Given the description of an element on the screen output the (x, y) to click on. 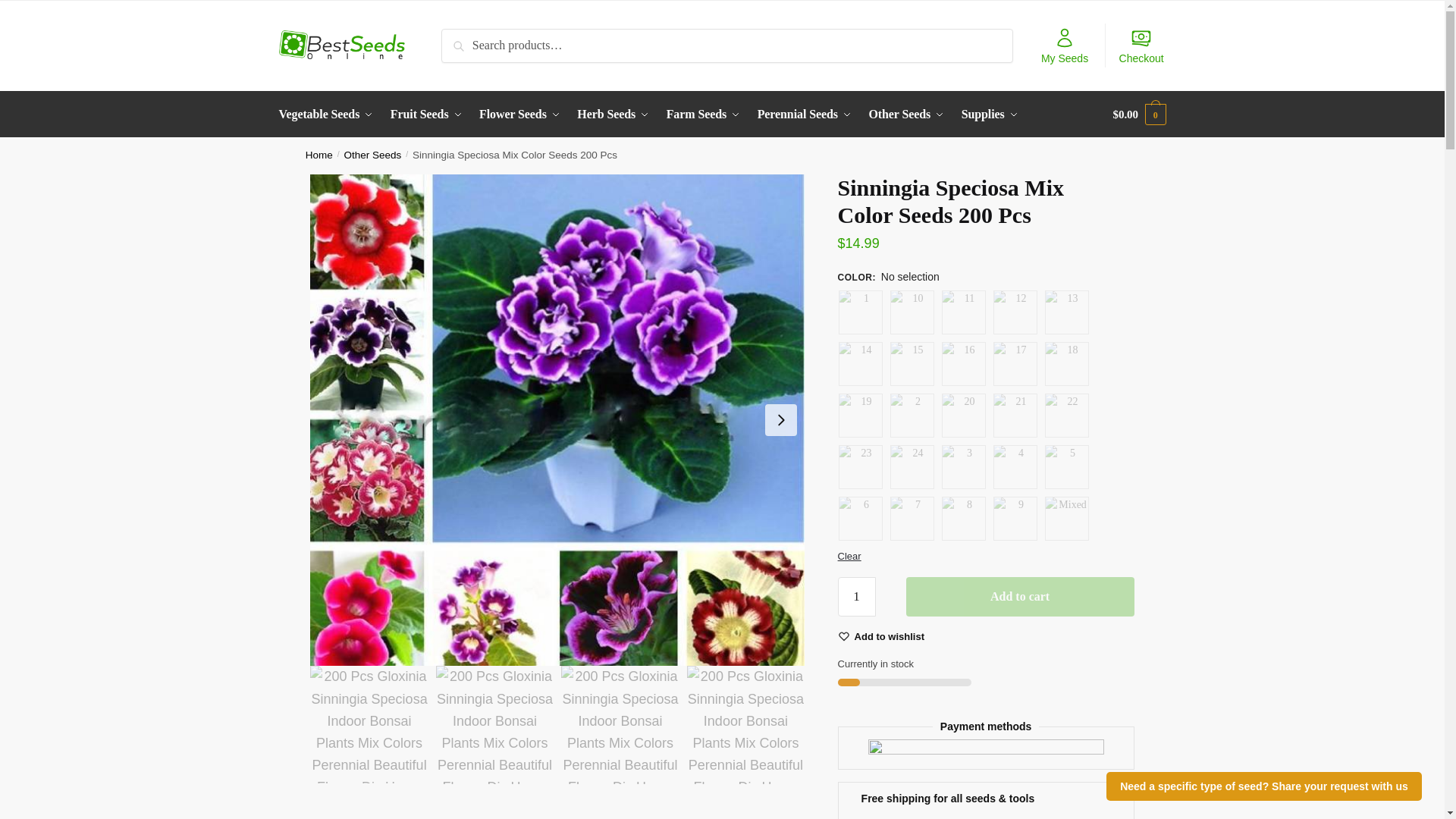
My Seeds (1064, 45)
1 (857, 596)
Search (462, 38)
Vegetable Seeds (329, 114)
Checkout (1141, 45)
